Given the description of an element on the screen output the (x, y) to click on. 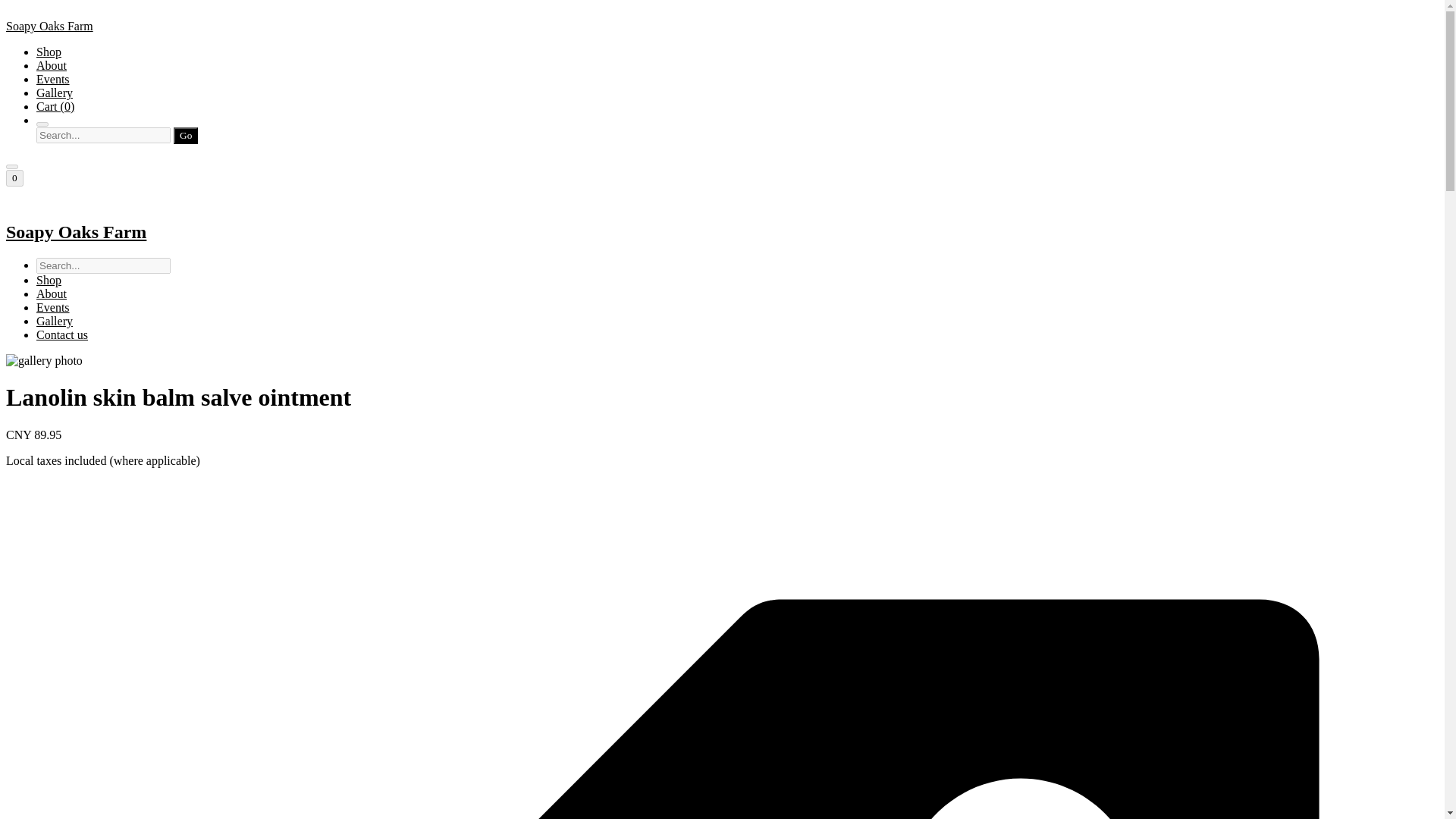
About (51, 65)
0 (14, 177)
About (51, 293)
Contact us (61, 334)
Shop (48, 51)
Go (185, 135)
Events (52, 78)
Go (185, 135)
Events (52, 307)
Shop (48, 279)
Gallery (54, 92)
Gallery (54, 320)
